Given the description of an element on the screen output the (x, y) to click on. 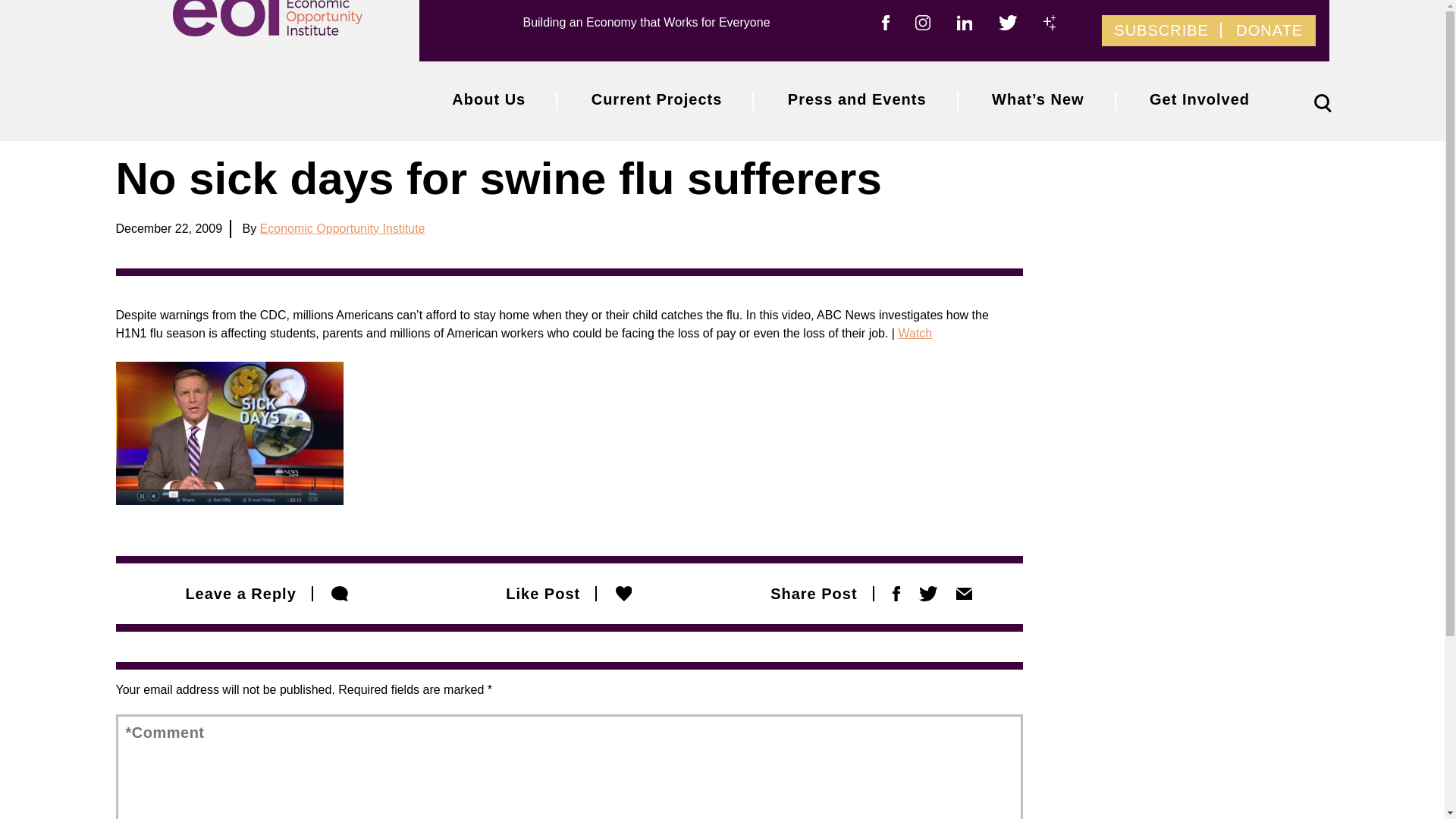
Posts by Economic Opportunity Institute (342, 228)
Get Involved (1199, 100)
Current Projects (656, 100)
SUBSCRIBE (1160, 29)
DONATE (1269, 29)
About Us (488, 100)
abcnews (228, 433)
Press and Events (856, 100)
